Given the description of an element on the screen output the (x, y) to click on. 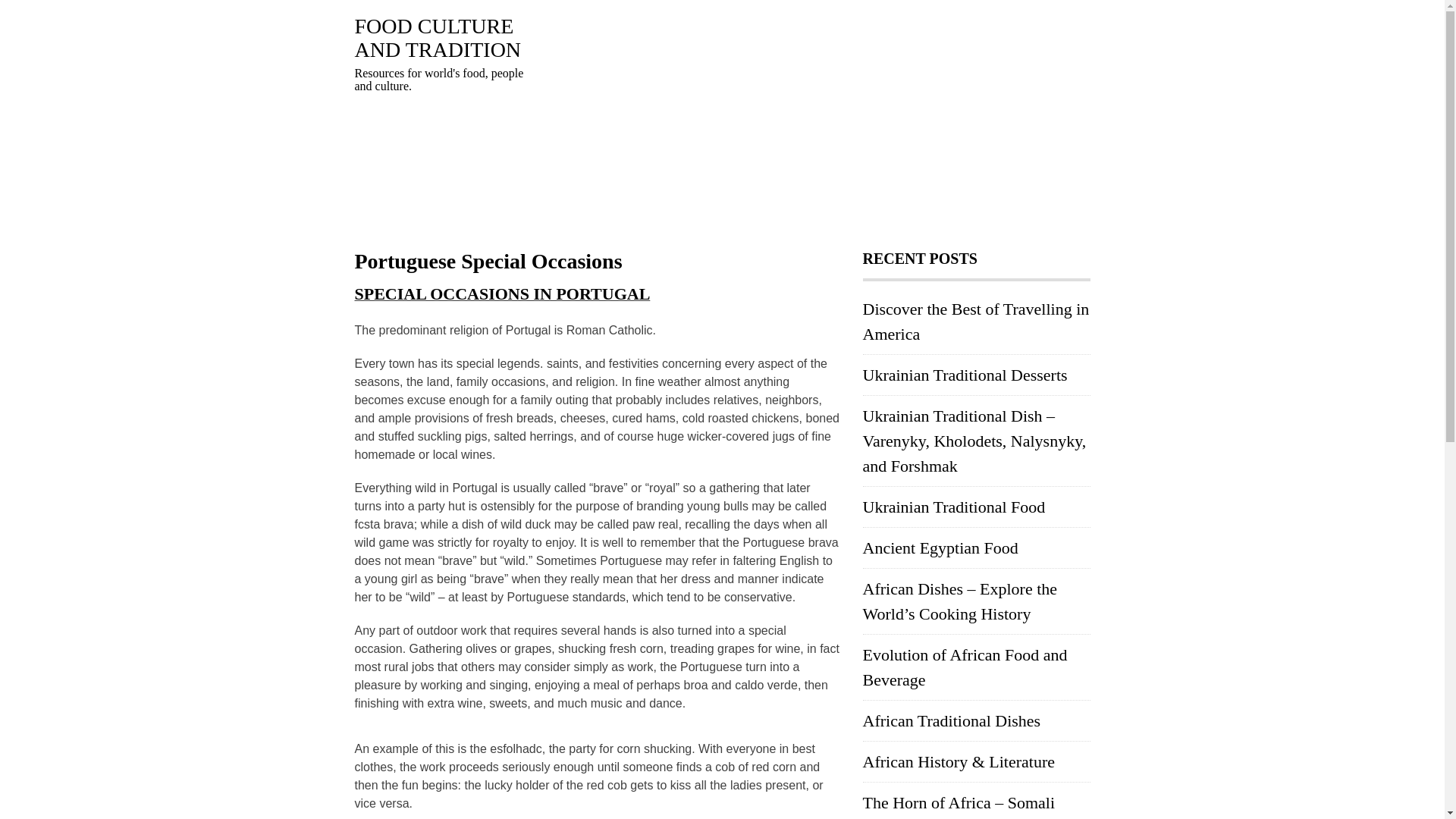
African Traditional Dishes (952, 720)
Ukrainian Traditional Food (954, 506)
Discover the Best of Travelling in America (976, 321)
FOOD CULTURE AND TRADITION (438, 37)
Ancient Egyptian Food (940, 547)
Ukrainian Traditional Desserts (965, 374)
Advertisement (809, 121)
Evolution of African Food and Beverage (965, 667)
Resources for world's food, people and culture. (438, 37)
